Given the description of an element on the screen output the (x, y) to click on. 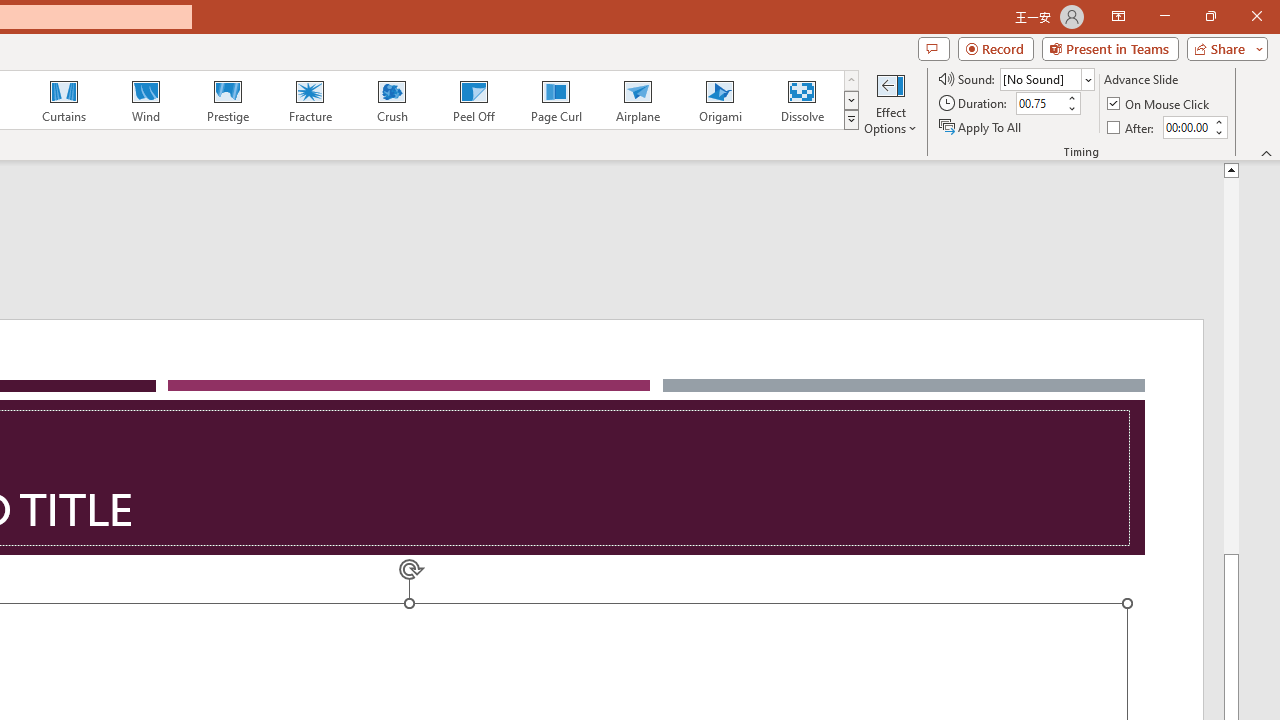
Dissolve (802, 100)
Curtains (63, 100)
Effect Options (890, 102)
Wind (145, 100)
Peel Off (473, 100)
Airplane (637, 100)
Duration (1039, 103)
Prestige (227, 100)
